Given the description of an element on the screen output the (x, y) to click on. 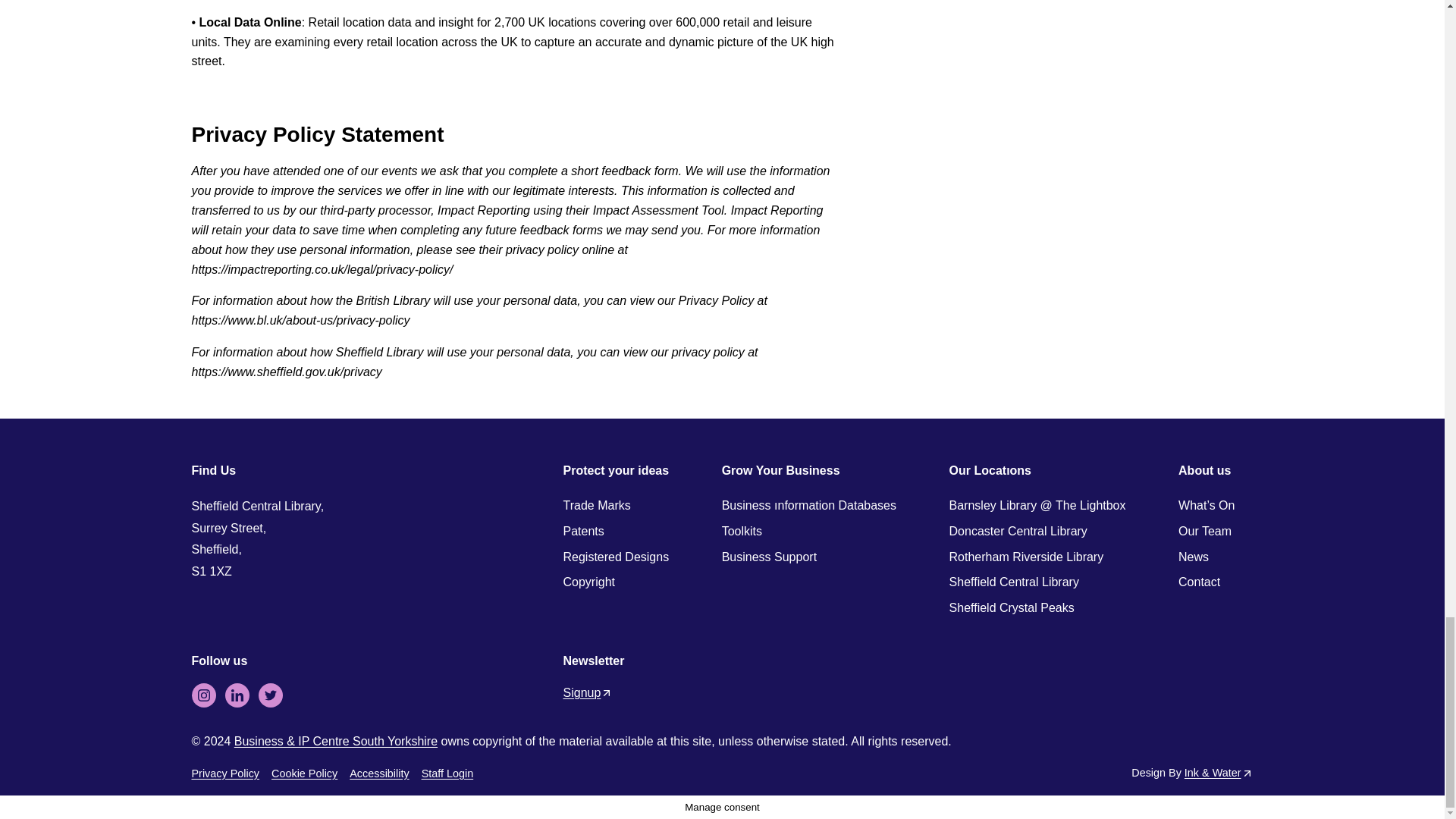
Protect your ideas (615, 470)
